Given the description of an element on the screen output the (x, y) to click on. 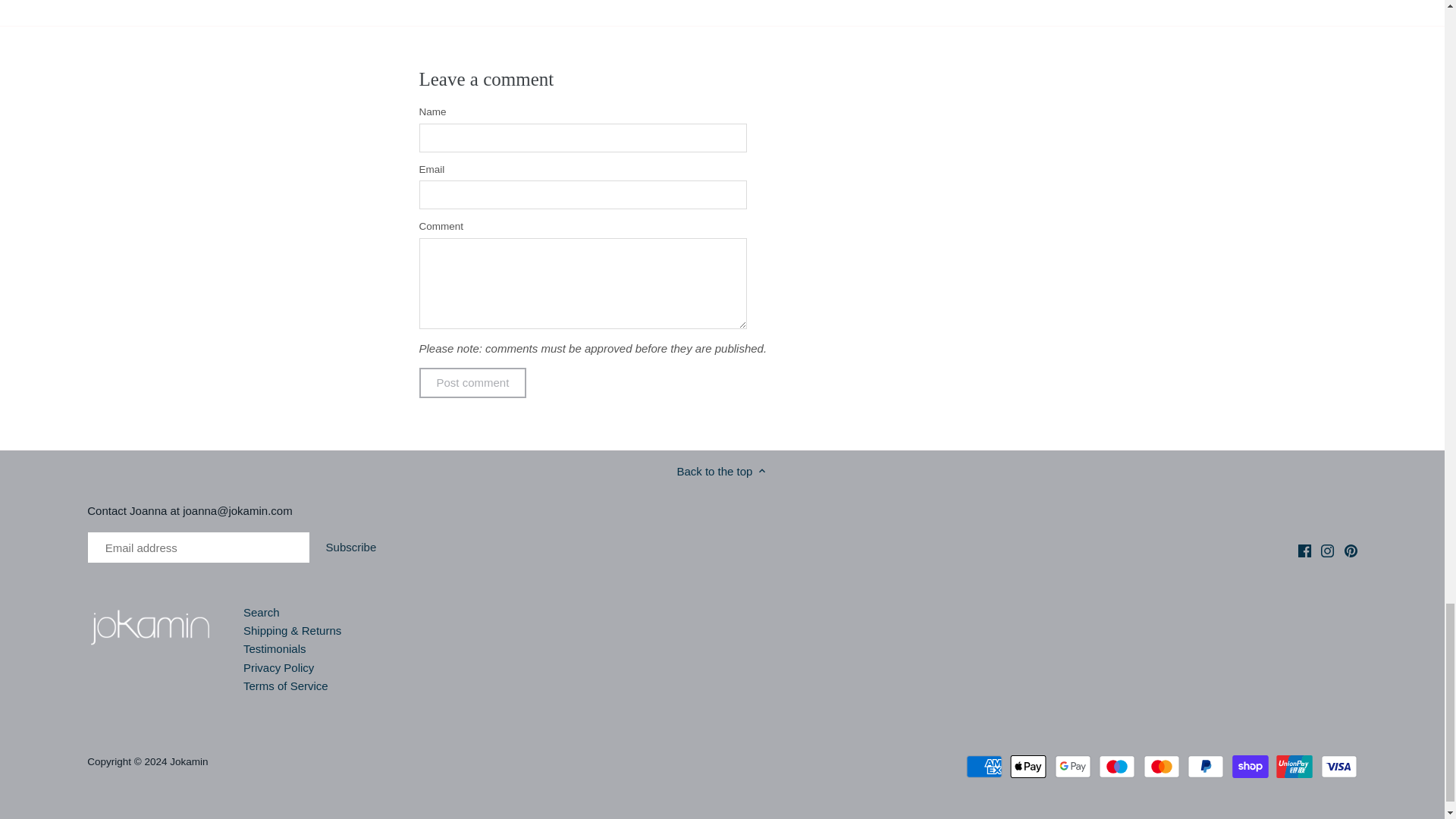
Facebook (1304, 550)
PayPal (1206, 766)
Mastercard (1160, 766)
American Express (984, 766)
Maestro (1117, 766)
Subscribe (350, 547)
Union Pay (1294, 766)
Subscribe (350, 547)
Instagram (1326, 550)
Shop Pay (1249, 766)
